Given the description of an element on the screen output the (x, y) to click on. 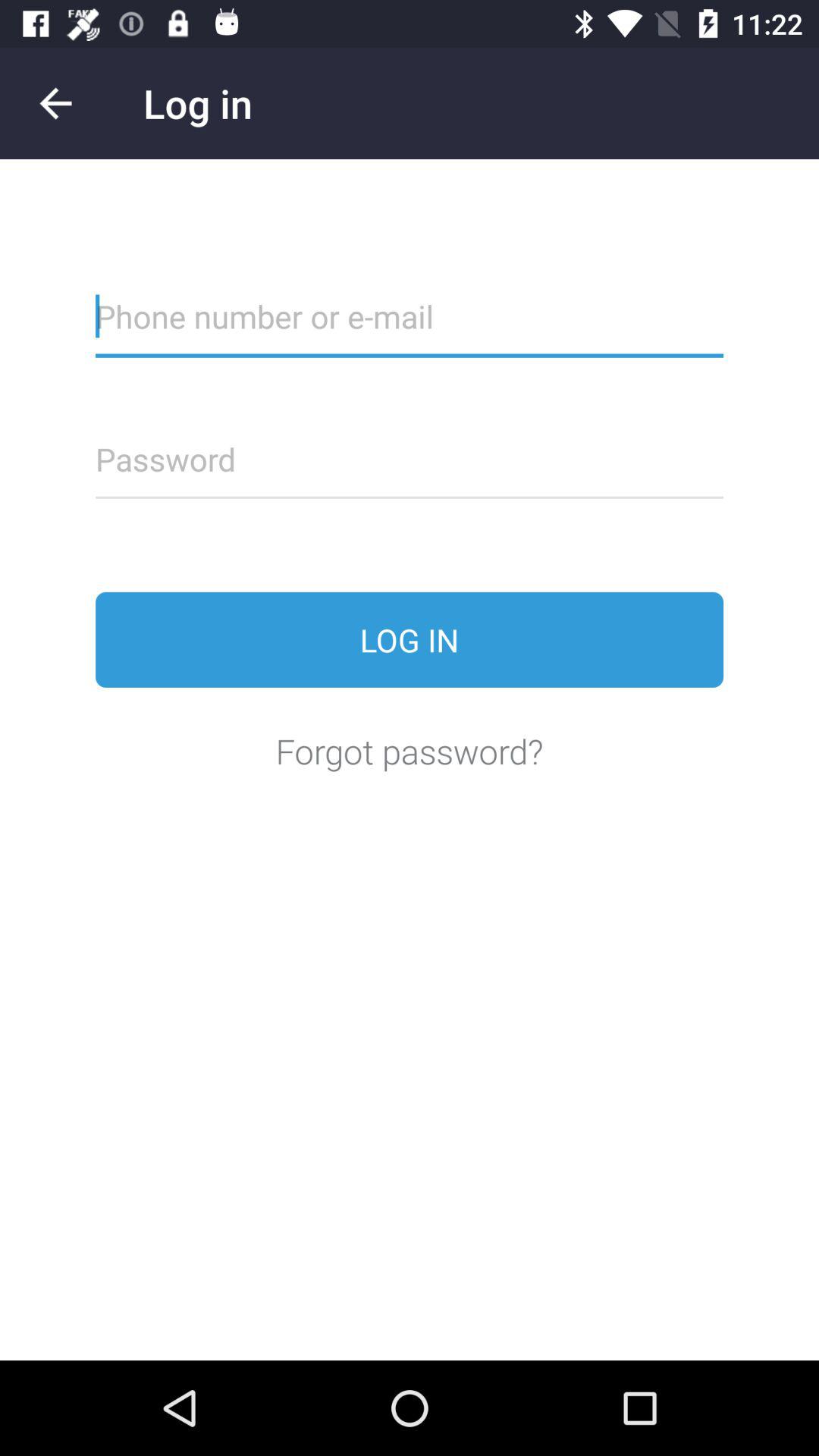
put email (409, 325)
